Given the description of an element on the screen output the (x, y) to click on. 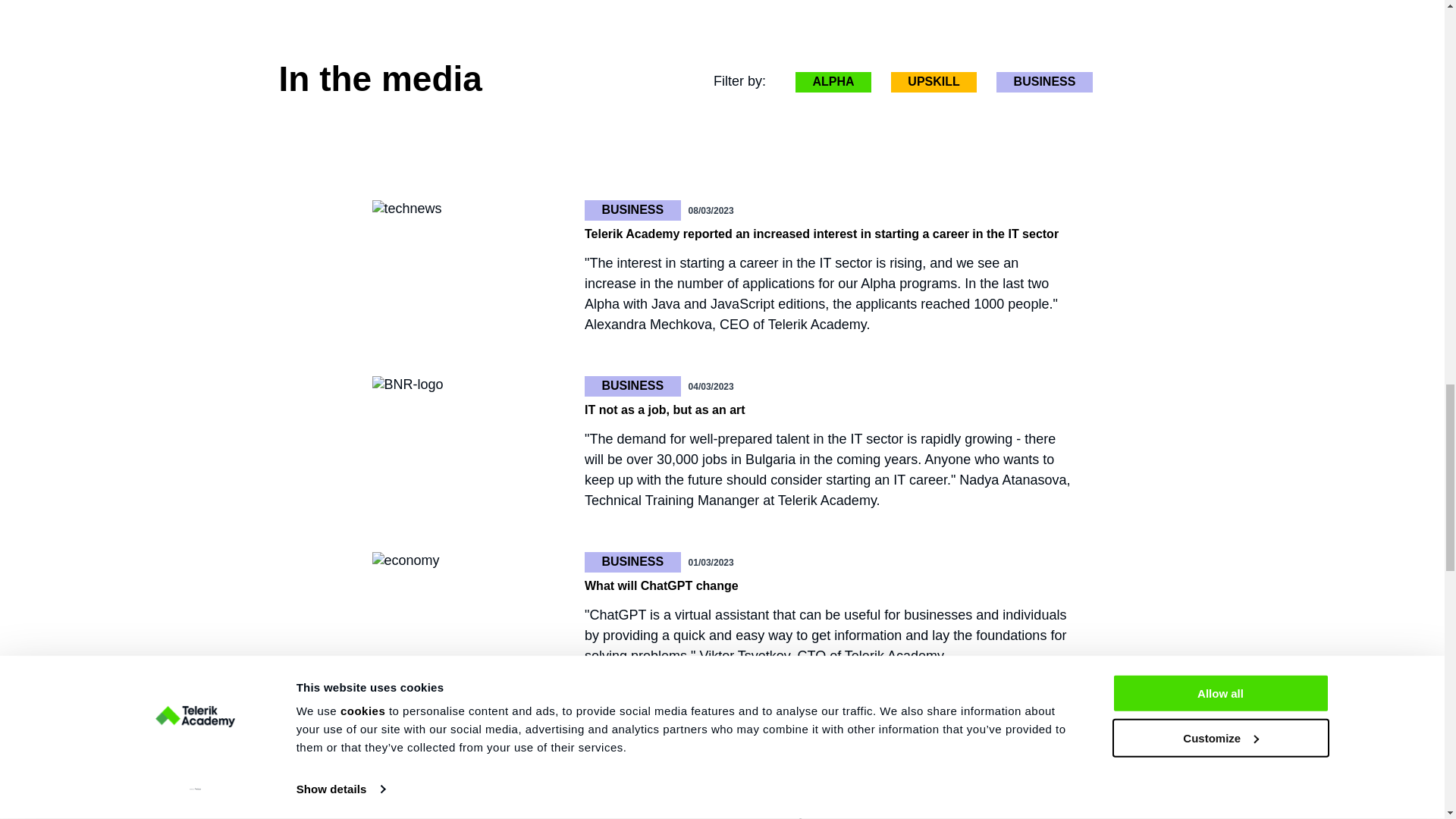
BNR-logo (406, 384)
technews (406, 208)
economy (405, 560)
